Given the description of an element on the screen output the (x, y) to click on. 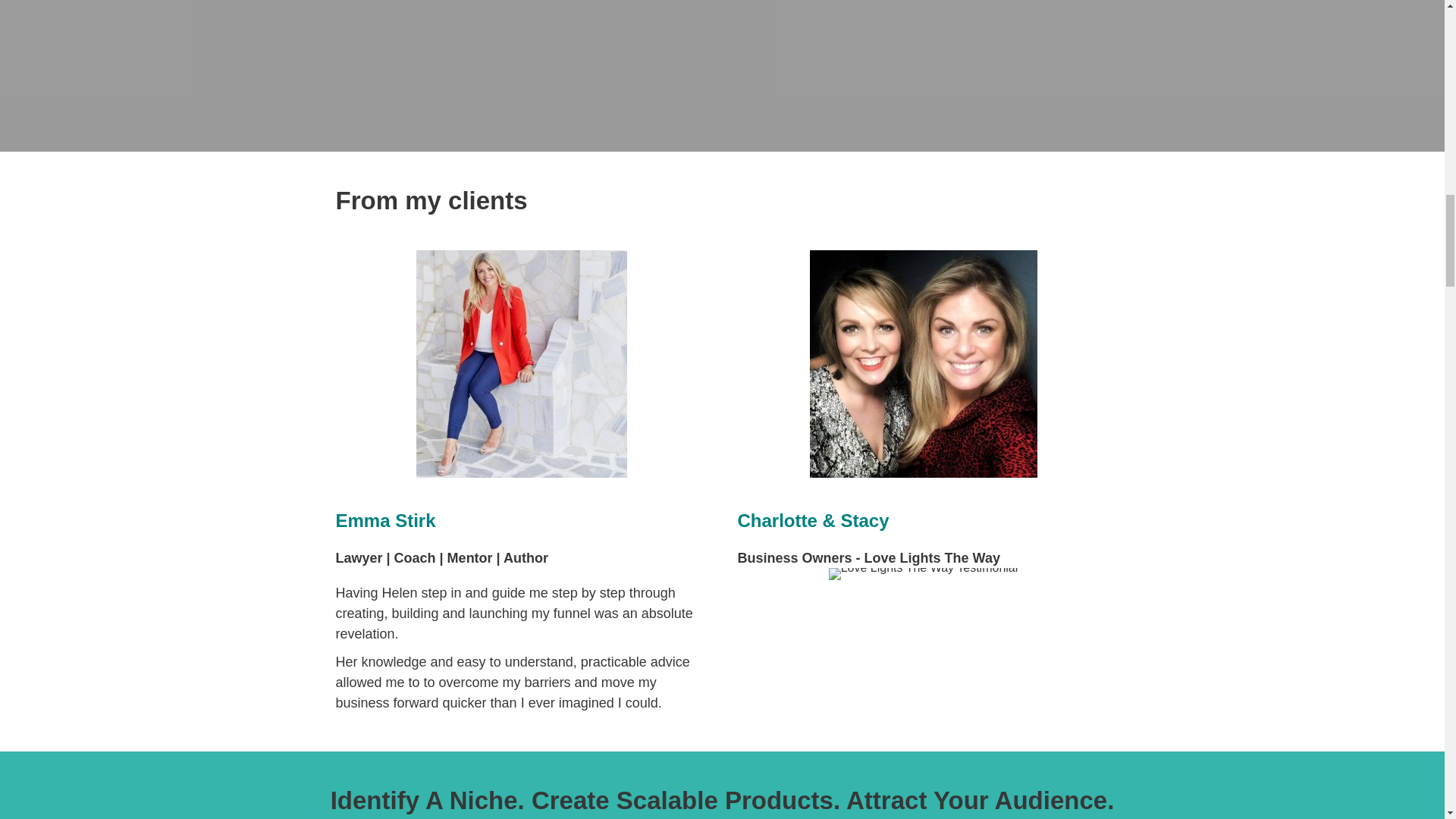
Love lights the way (922, 363)
Emma Stirk 2 (520, 363)
LLTW Testimonial (922, 573)
